Given the description of an element on the screen output the (x, y) to click on. 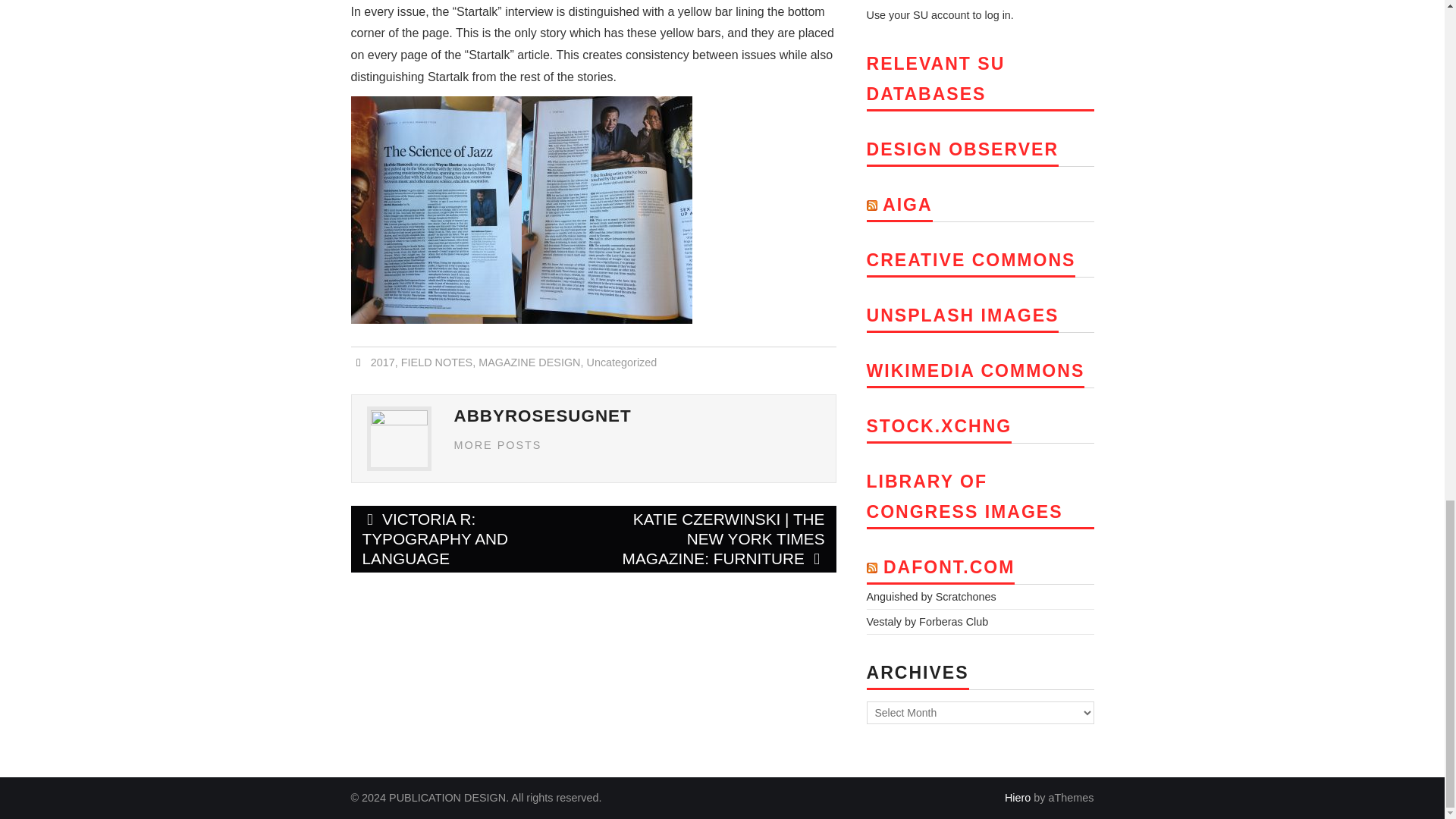
VICTORIA R: TYPOGRAPHY AND LANGUAGE (471, 539)
Uncategorized (621, 362)
MAGAZINE DESIGN (529, 362)
MORE POSTS (496, 444)
2017 (382, 362)
FIELD NOTES (436, 362)
